Given the description of an element on the screen output the (x, y) to click on. 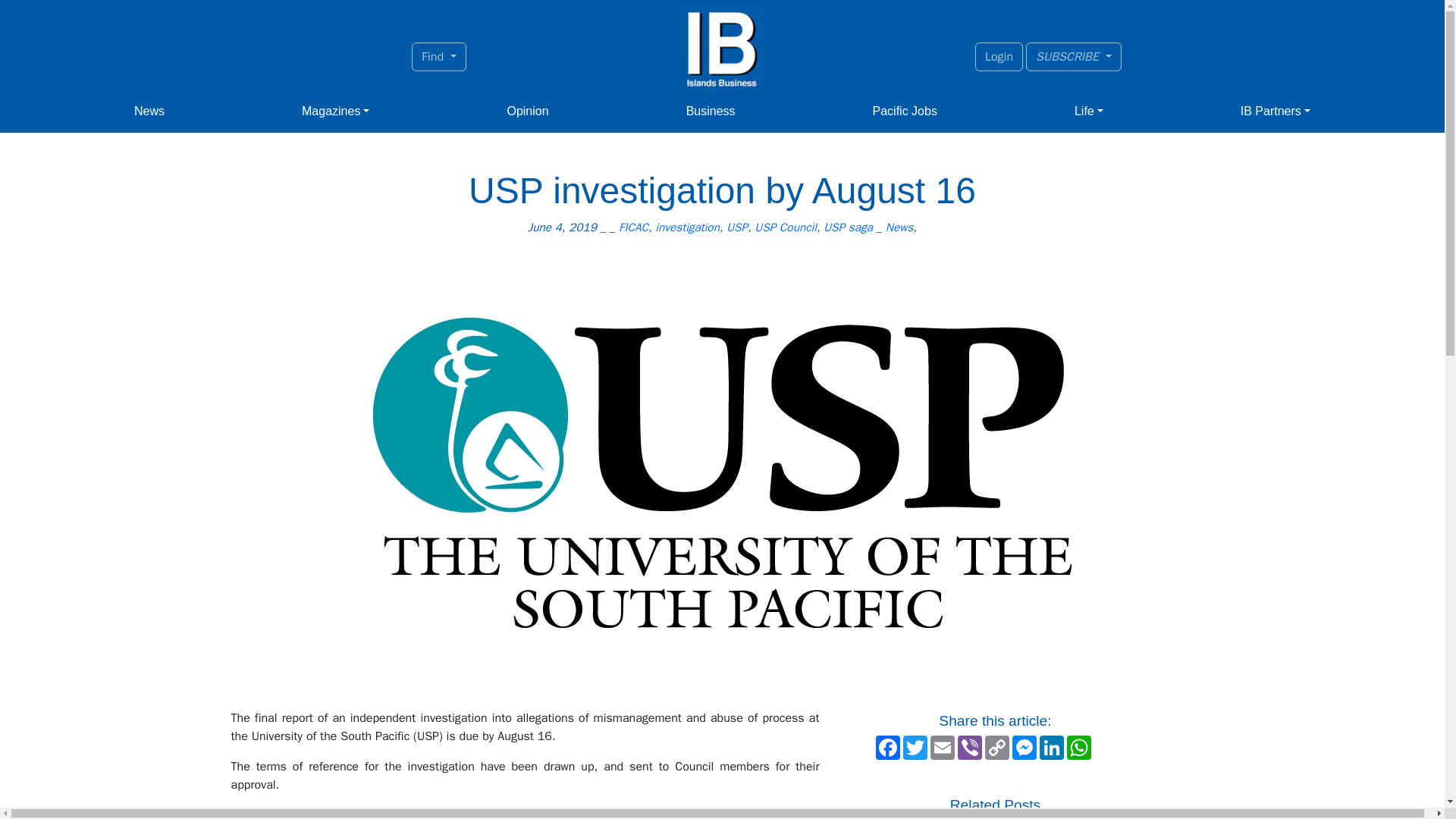
Opinion (527, 111)
News (149, 111)
Life (1088, 111)
Pacific Jobs (904, 111)
SUBSCRIBE (1073, 56)
Business (710, 111)
Login (999, 56)
Magazines (335, 111)
IB Partners (1275, 111)
Login (999, 56)
